Given the description of an element on the screen output the (x, y) to click on. 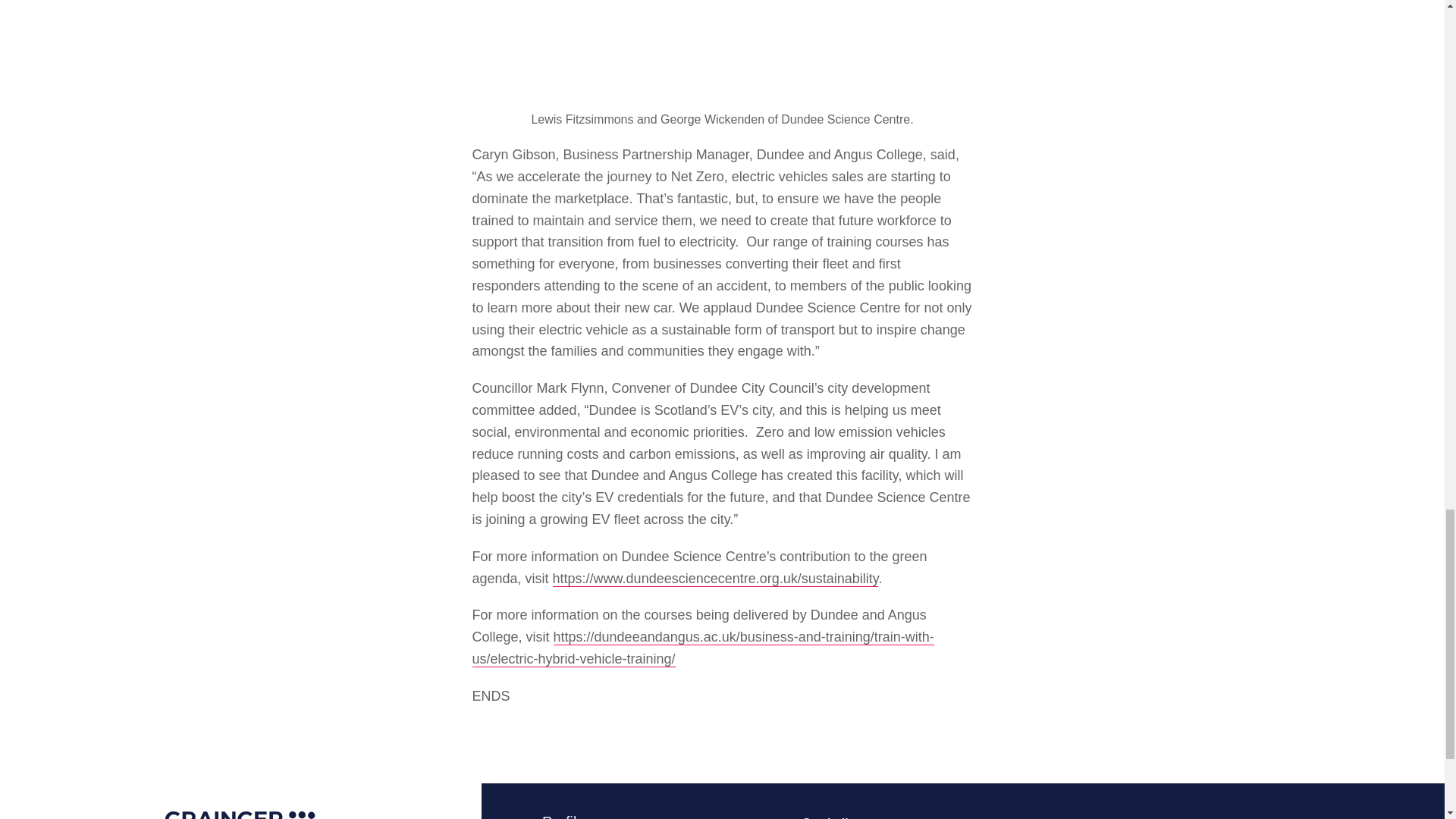
Return to Grainger PR's homepage (239, 800)
Profile (563, 812)
Grainger PR (239, 800)
